Given the description of an element on the screen output the (x, y) to click on. 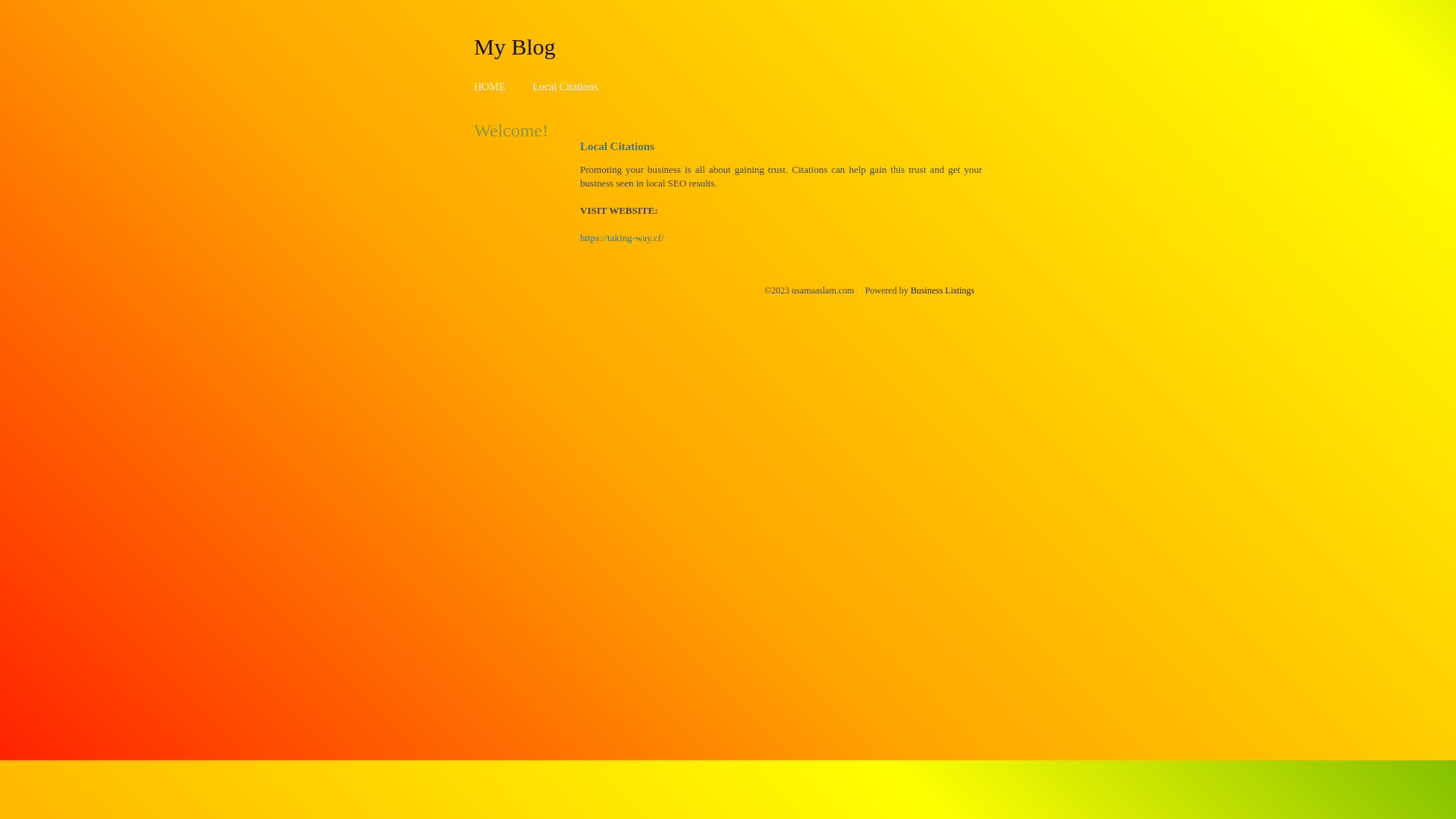
https://taking-way.cf/ Element type: text (622, 237)
Business Listings Element type: text (942, 290)
Local Citations Element type: text (564, 86)
HOME Element type: text (489, 86)
My Blog Element type: text (514, 46)
